Given the description of an element on the screen output the (x, y) to click on. 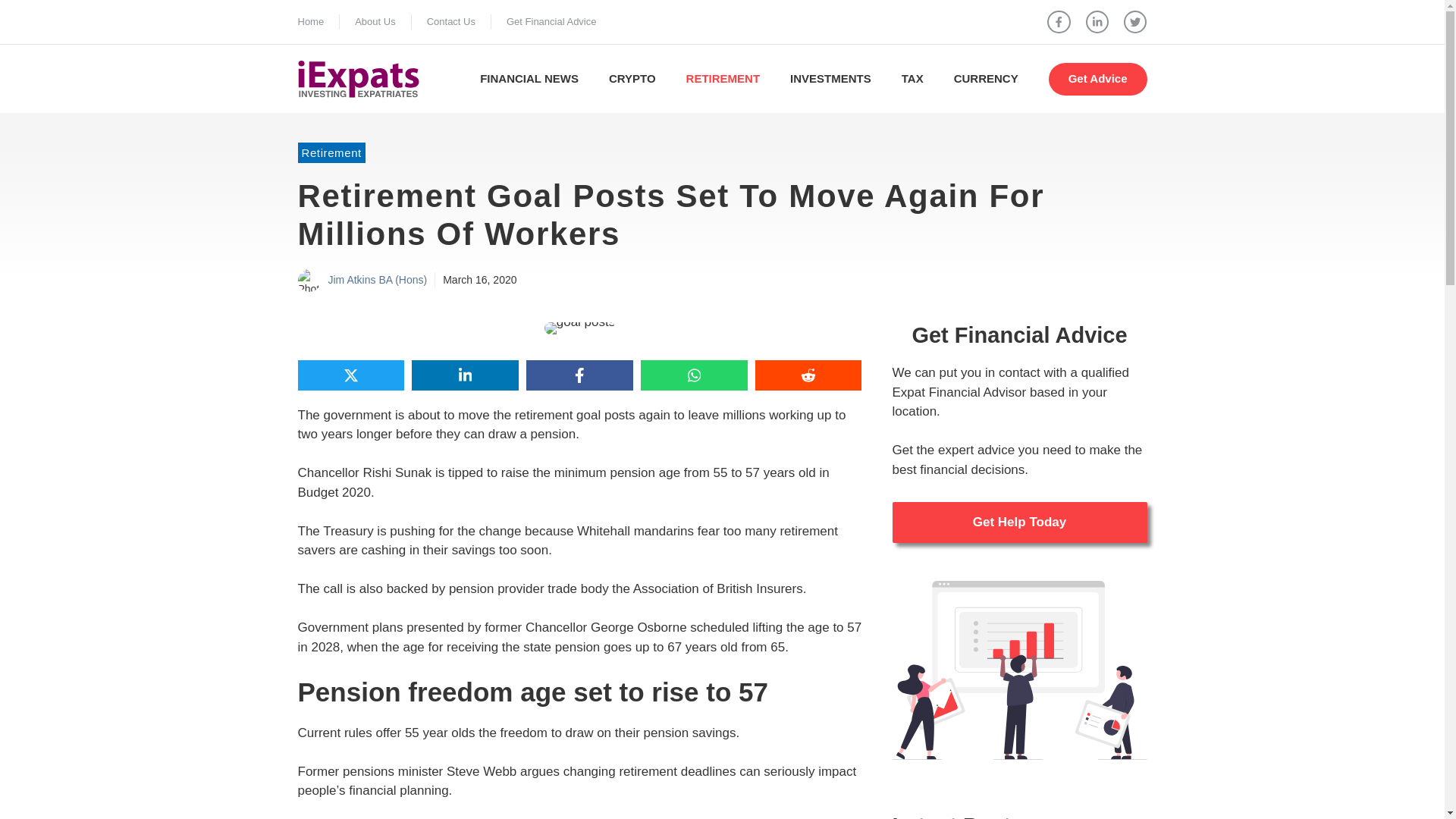
Contact Us (451, 21)
Get Financial Advice (551, 21)
About Us (374, 21)
Retirement (331, 152)
Get Advice (1097, 79)
Get Help Today (1019, 522)
Home (310, 21)
